Given the description of an element on the screen output the (x, y) to click on. 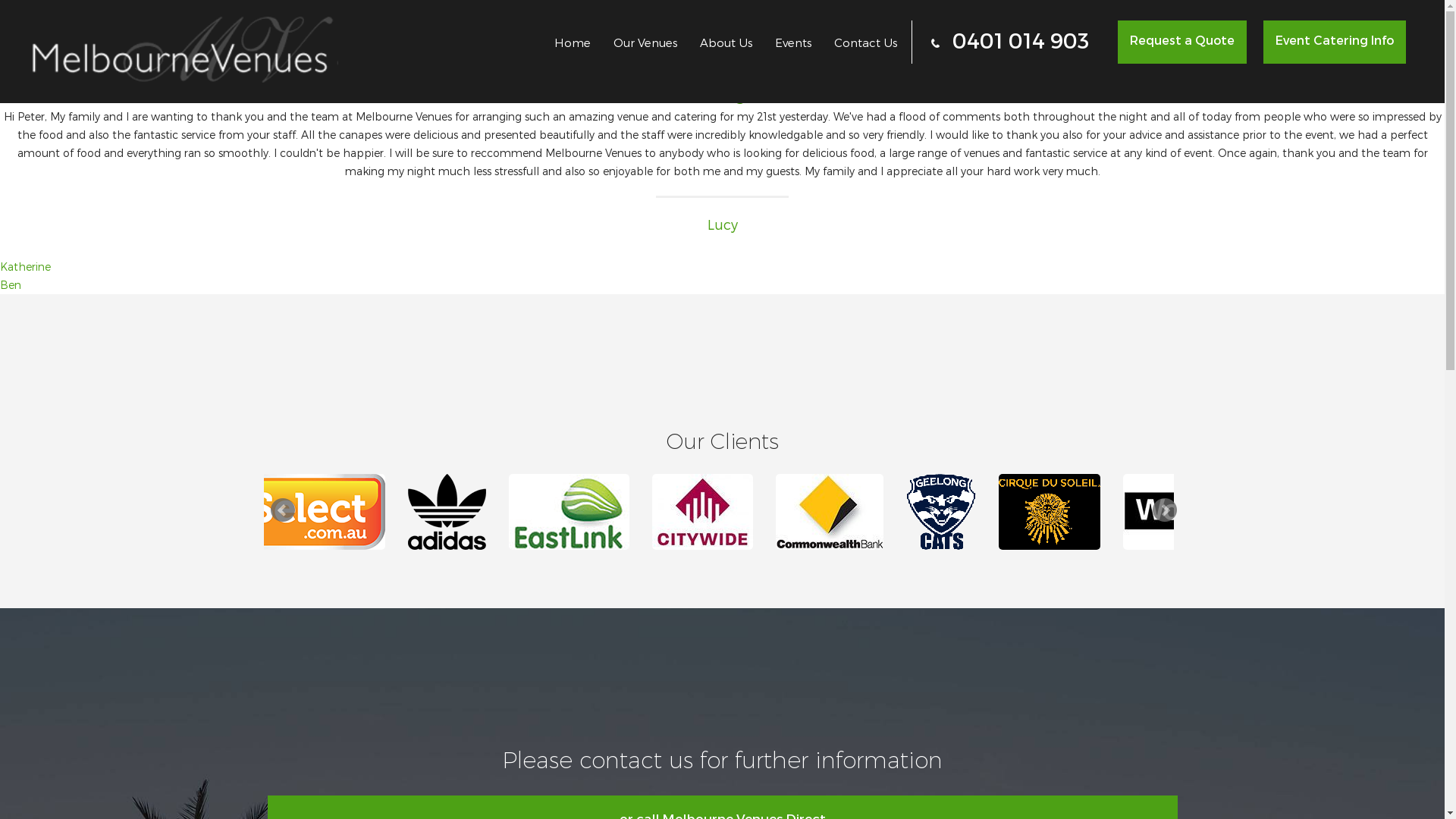
Corporate Event Venues Melbourne Element type: hover (1238, 511)
Events Element type: text (792, 41)
unique wedding venues Melbourne Element type: hover (1084, 511)
Wedding Venues Melbourne Element type: hover (607, 511)
Contact Us Element type: text (865, 41)
Prev Element type: text (281, 510)
Wedding Reception Venues Melbourne Element type: hover (740, 511)
Event Catering Info Element type: text (1334, 41)
Our Venues Element type: text (645, 41)
Katherine Element type: text (25, 266)
Ben Element type: text (10, 284)
Conference Venues Melbourne CBD Element type: hover (866, 511)
Melbourne Venues Element type: hover (486, 511)
Request a Quote Element type: text (1181, 41)
About Us Element type: text (725, 41)
0401 014 903 Element type: text (1010, 41)
Home Element type: text (572, 41)
Party Venues Melbourne Element type: hover (344, 511)
Corporate Venues Melbourne Element type: hover (977, 511)
Next Element type: text (1164, 510)
